Given the description of an element on the screen output the (x, y) to click on. 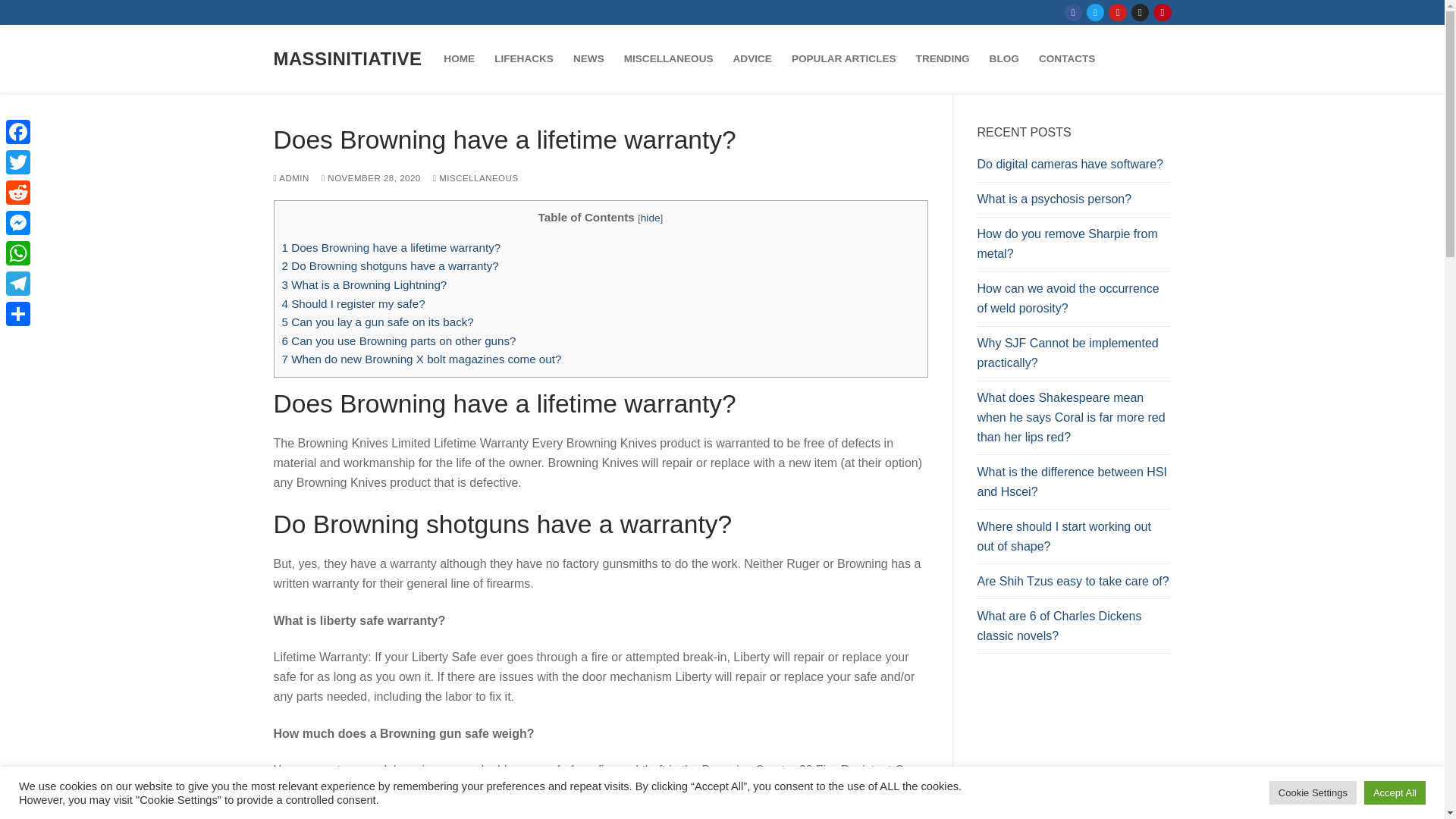
HOME (458, 59)
hide (650, 217)
4 Should I register my safe? (353, 303)
Youtube (1117, 12)
MISCELLANEOUS (668, 59)
3 What is a Browning Lightning? (364, 284)
BLOG (1004, 59)
Instagram (1139, 12)
2 Do Browning shotguns have a warranty? (390, 265)
NOVEMBER 28, 2020 (370, 177)
